Given the description of an element on the screen output the (x, y) to click on. 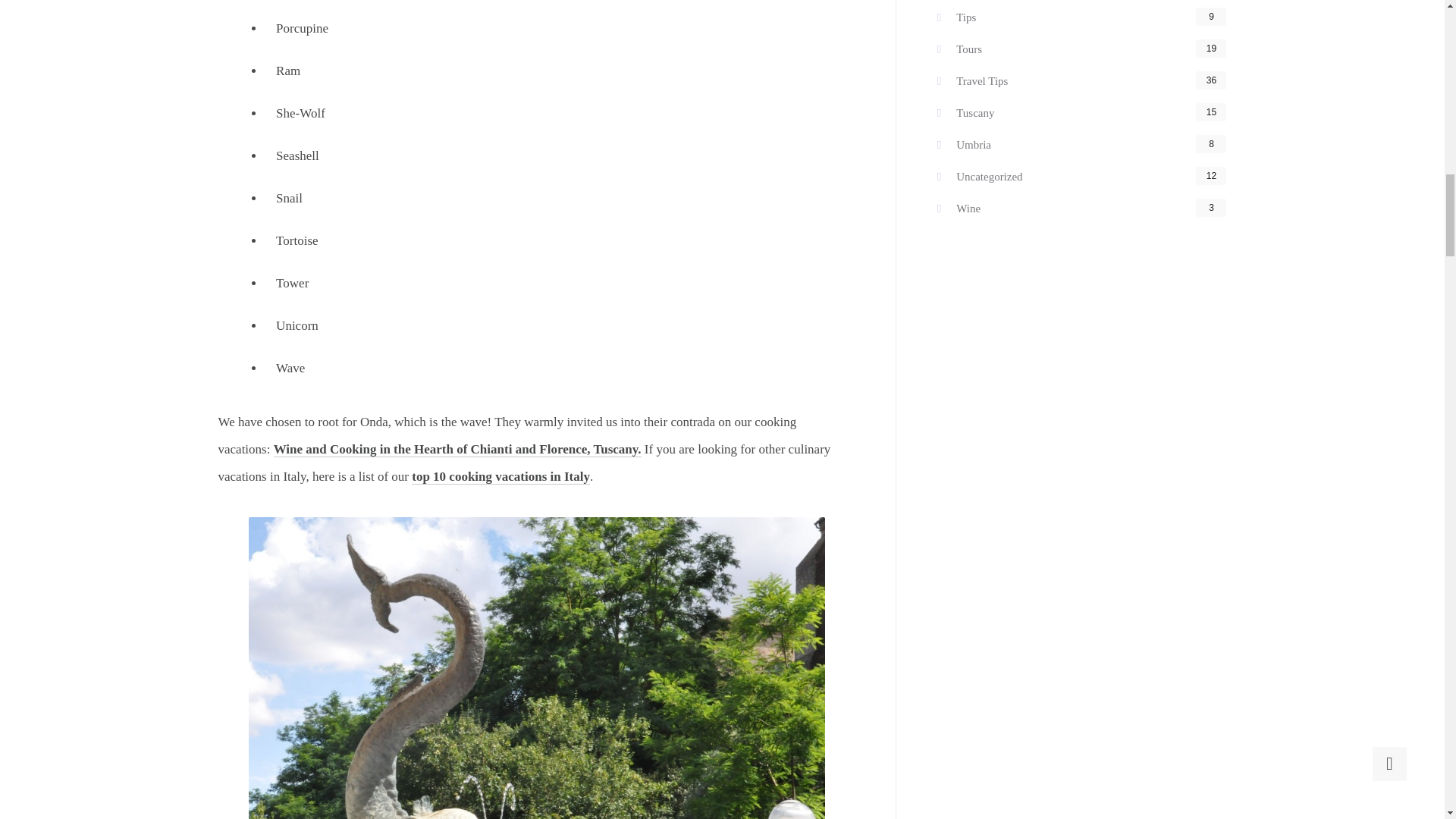
top 10 cooking vacations in Italy (500, 476)
